Given the description of an element on the screen output the (x, y) to click on. 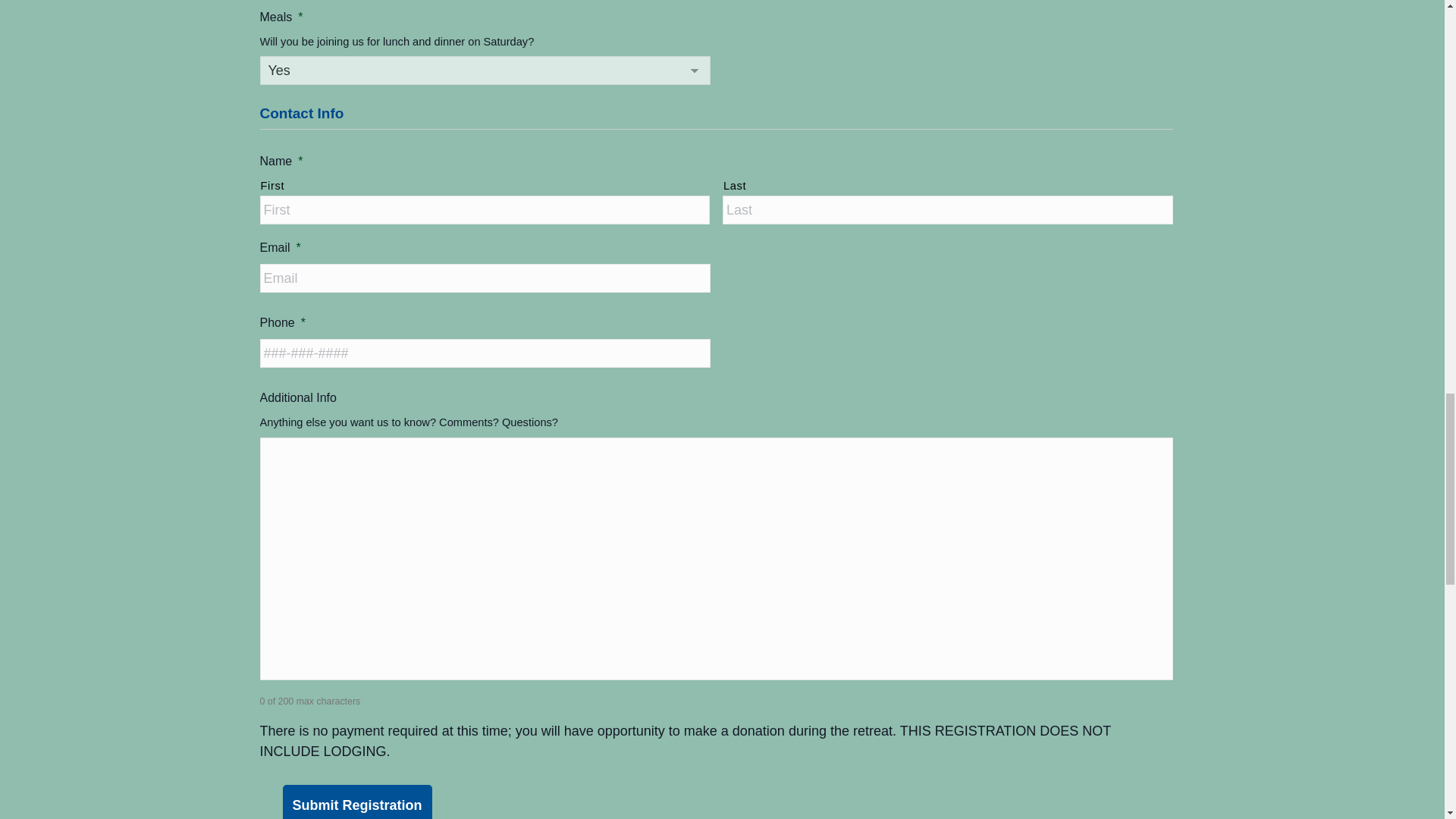
Submit Registration (356, 801)
